Given the description of an element on the screen output the (x, y) to click on. 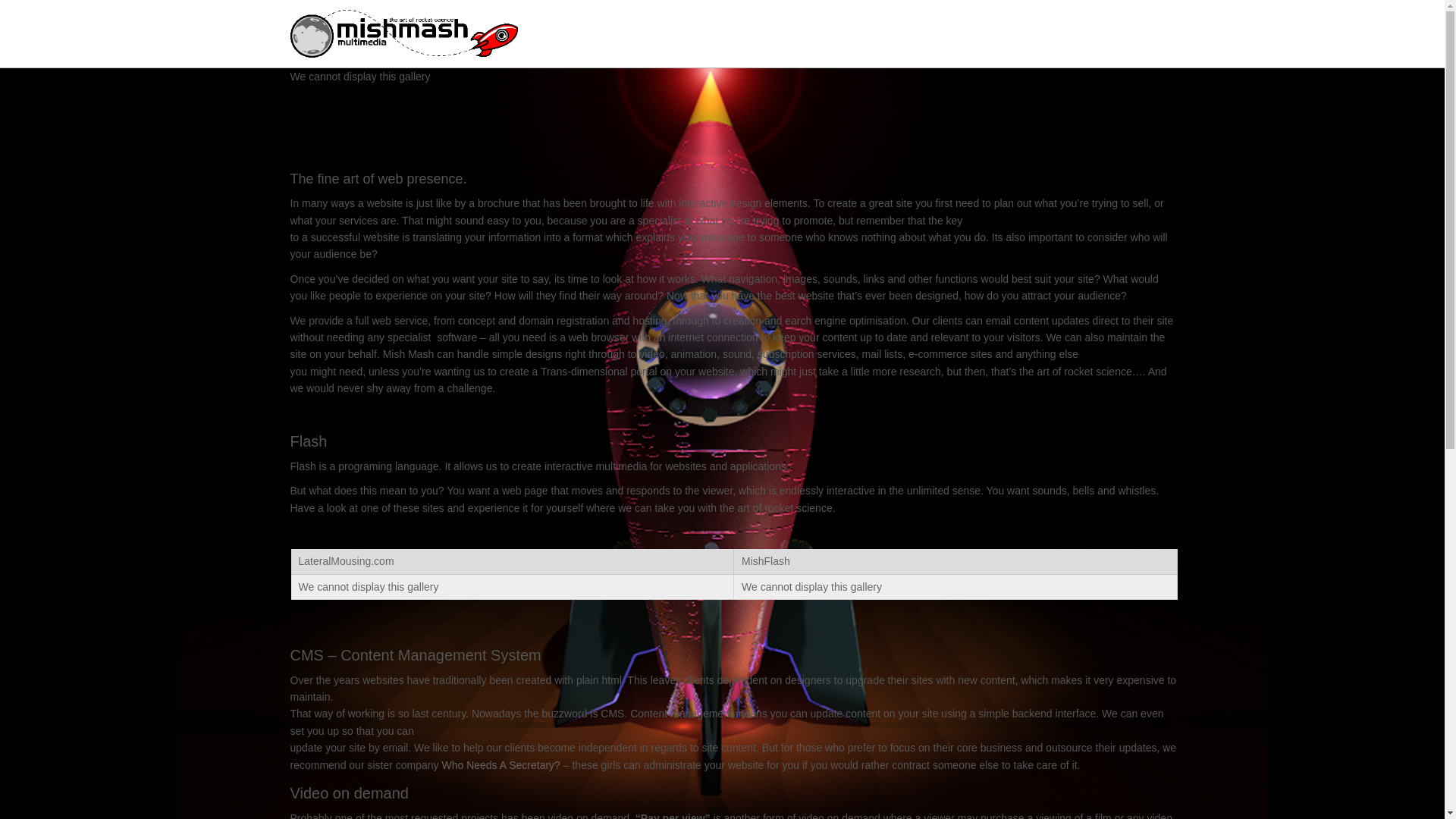
MishFlash Element type: text (765, 561)
Who Needs A Secretary? Element type: text (500, 765)
LateralMousing.com Element type: text (346, 561)
